Given the description of an element on the screen output the (x, y) to click on. 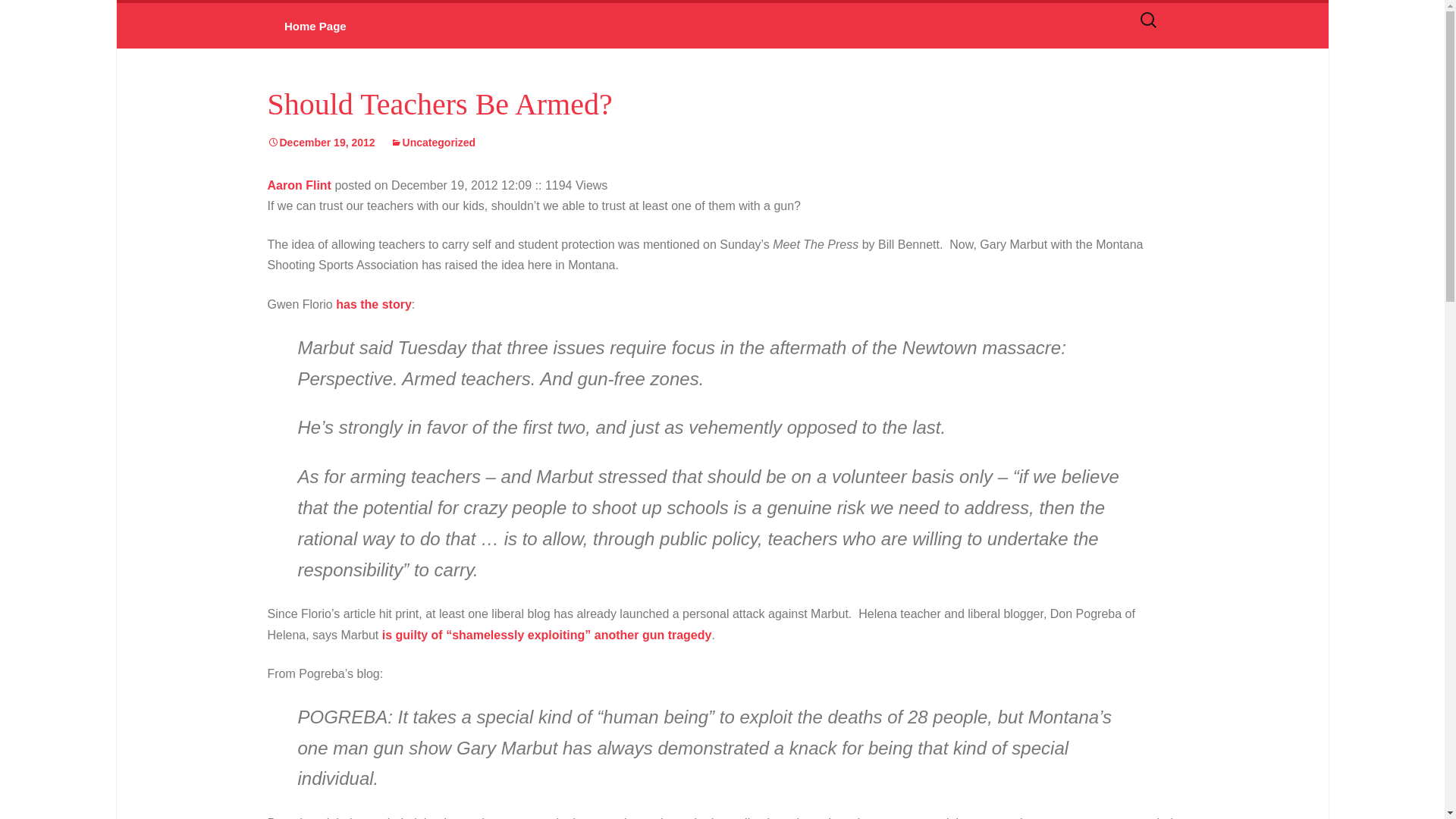
Permalink to Should Teachers Be Armed? (320, 142)
Home Page (314, 25)
December 19, 2012 (320, 142)
Aaron Flint (298, 185)
has the story (374, 304)
Uncategorized (433, 142)
Search (24, 22)
